Given the description of an element on the screen output the (x, y) to click on. 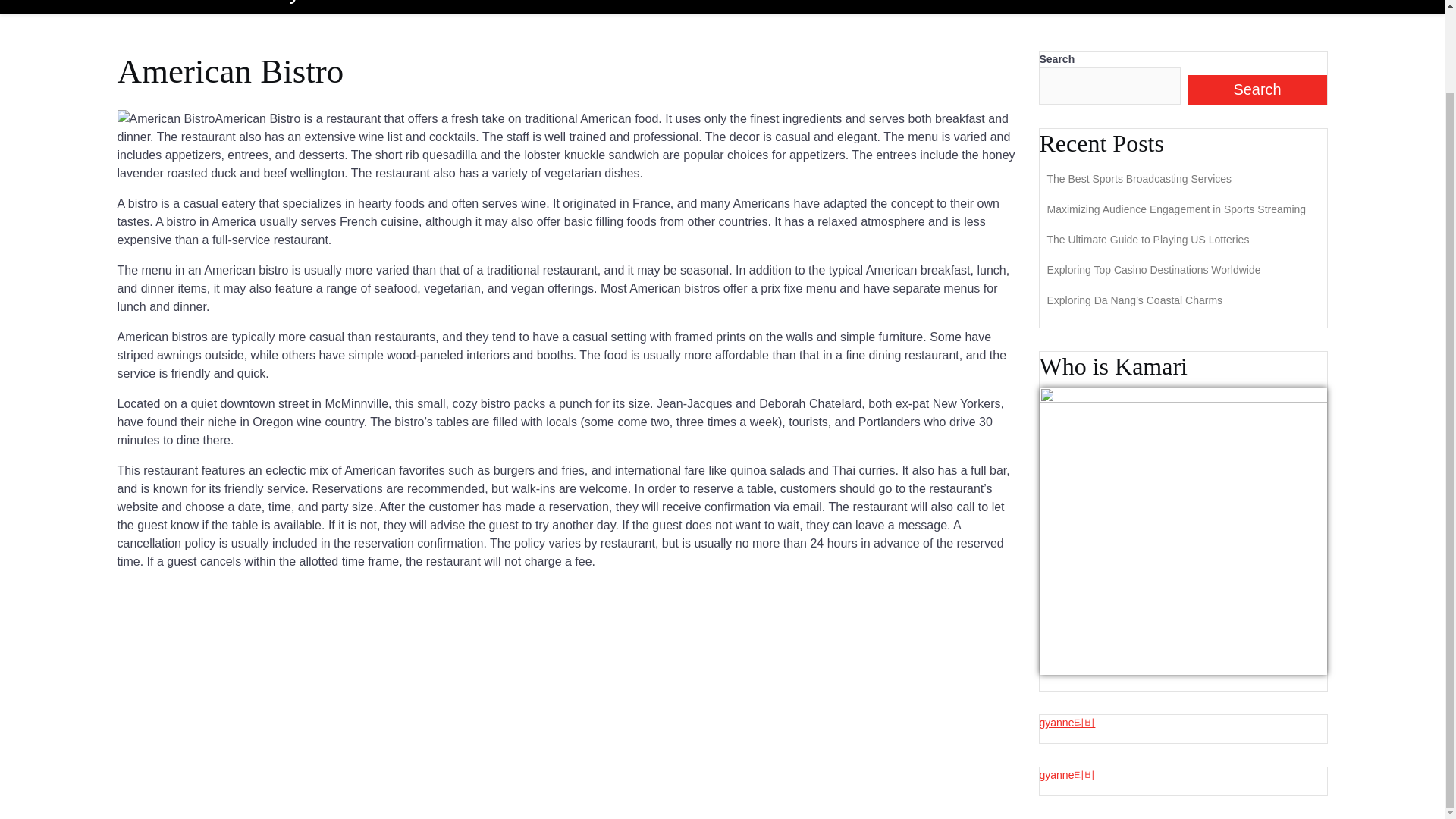
Maximizing Audience Engagement in Sports Streaming (1176, 209)
The Best Sports Broadcasting Services (1138, 178)
The Ultimate Guide to Playing US Lotteries (1147, 239)
Exploring Top Casino Destinations Worldwide (1153, 269)
Search (1257, 89)
Wildflower Cafeny (207, 2)
